Given the description of an element on the screen output the (x, y) to click on. 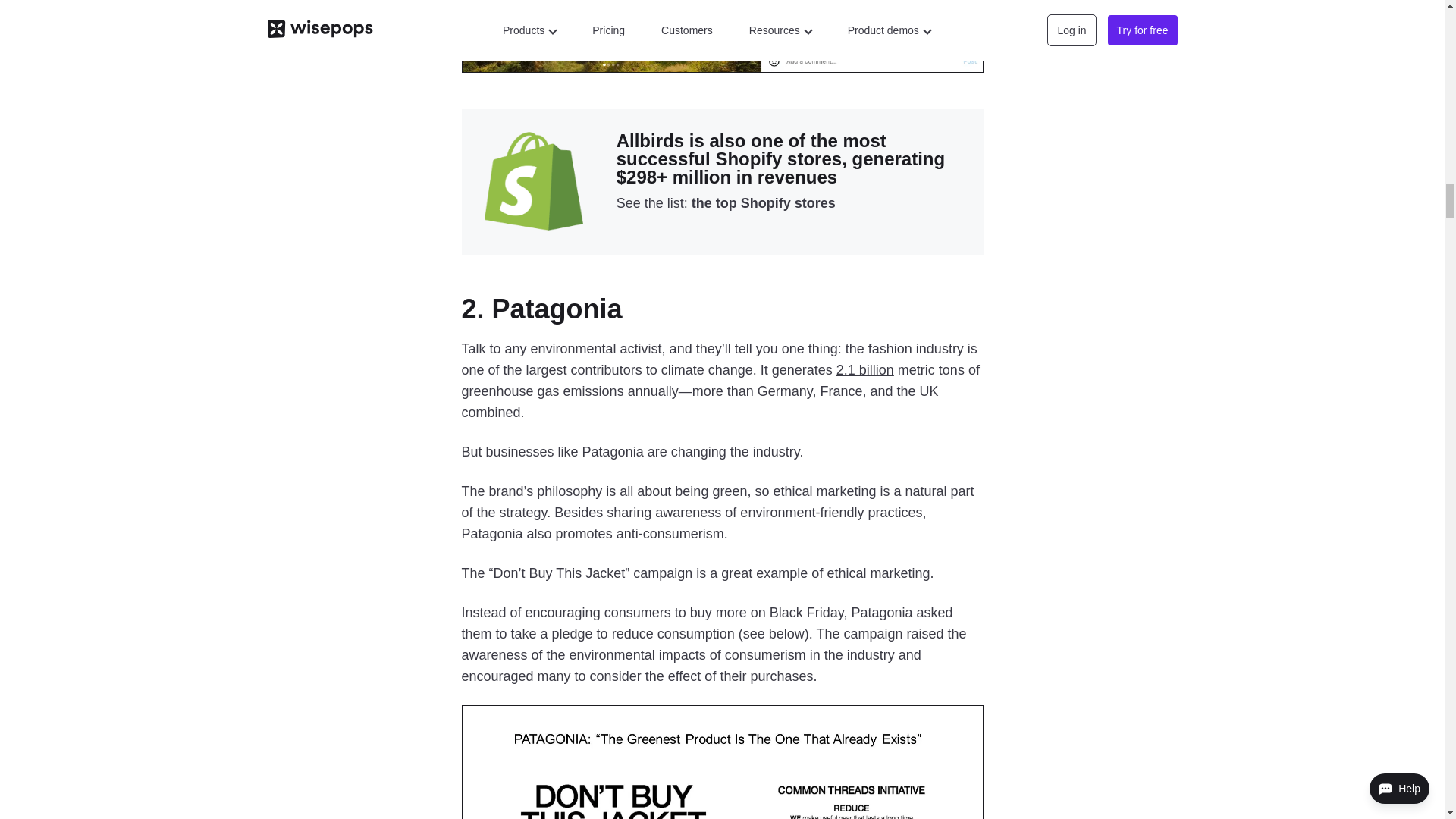
Patagonia (557, 308)
the top Shopify stores (763, 202)
2.1 billion (864, 369)
